Given the description of an element on the screen output the (x, y) to click on. 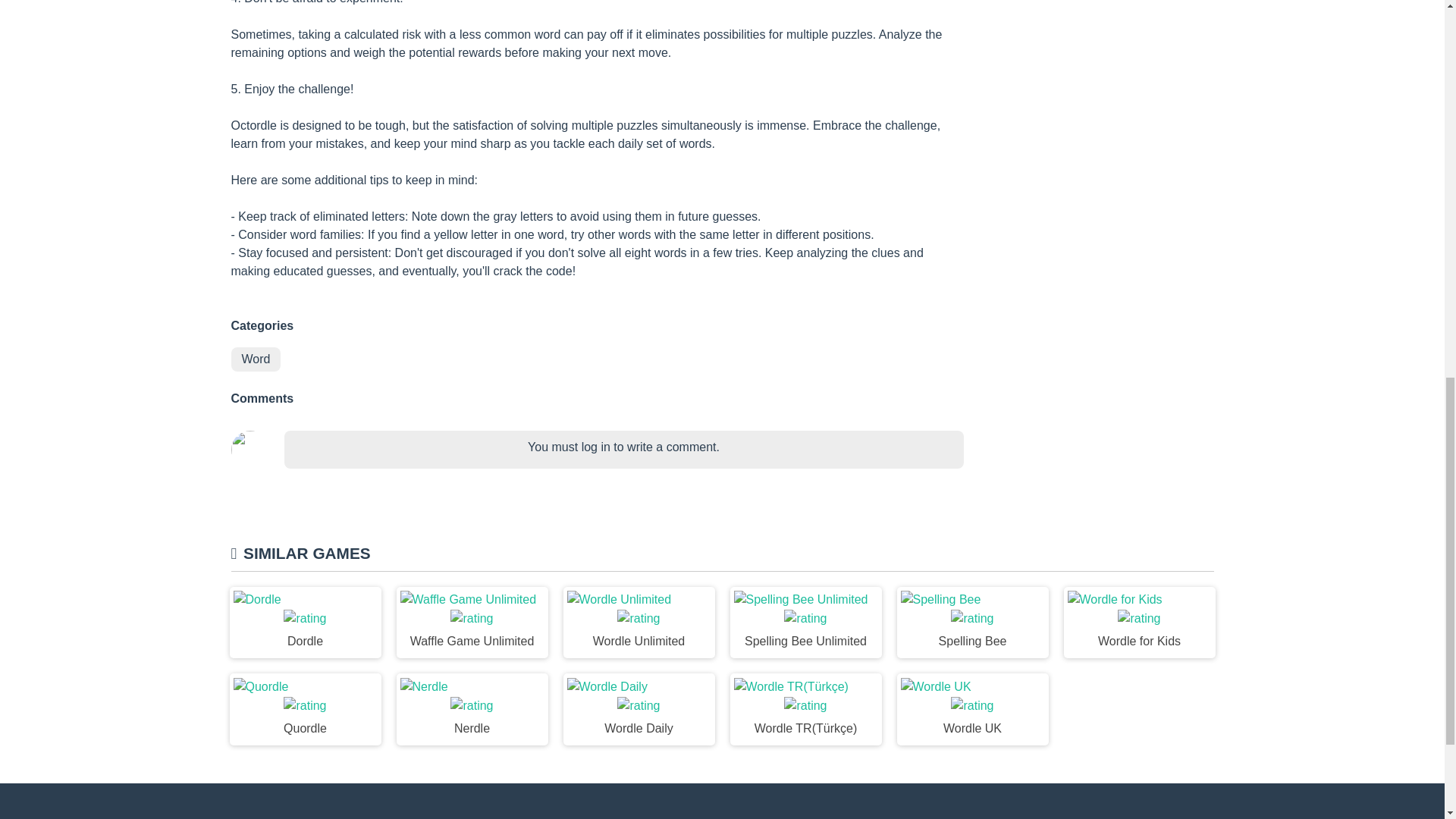
Wordle Unlimited (638, 623)
Word (255, 359)
Dordle (304, 623)
Waffle Game Unlimited (471, 623)
Spelling Bee (972, 623)
Spelling Bee Unlimited (804, 623)
